Given the description of an element on the screen output the (x, y) to click on. 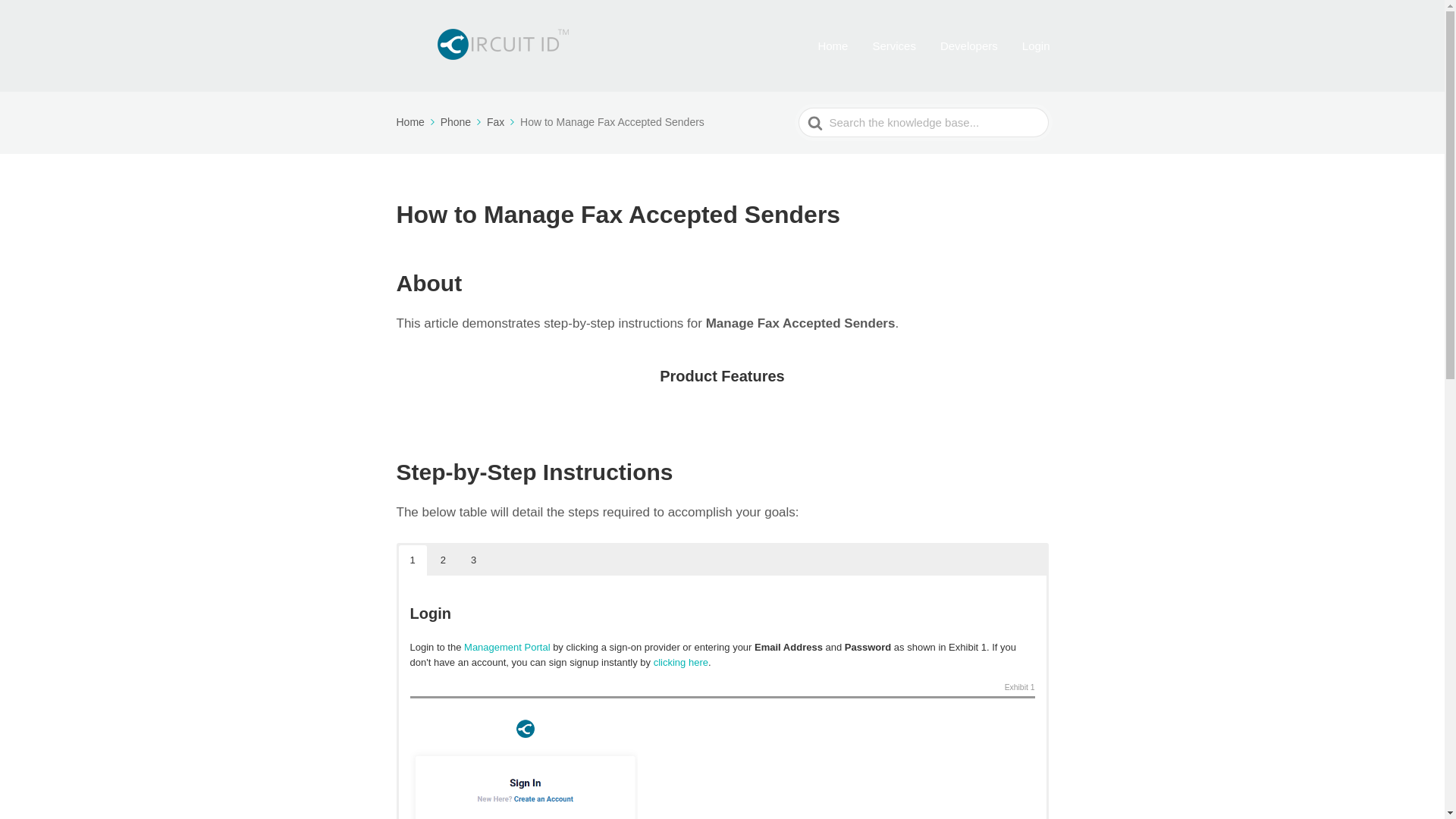
Phone (462, 121)
Services (893, 45)
Login (1036, 45)
Home (416, 121)
Home (831, 45)
Fax (501, 121)
Management Portal (507, 646)
Developers (969, 45)
clicking here (680, 662)
Exhibit 1 (1019, 689)
